Given the description of an element on the screen output the (x, y) to click on. 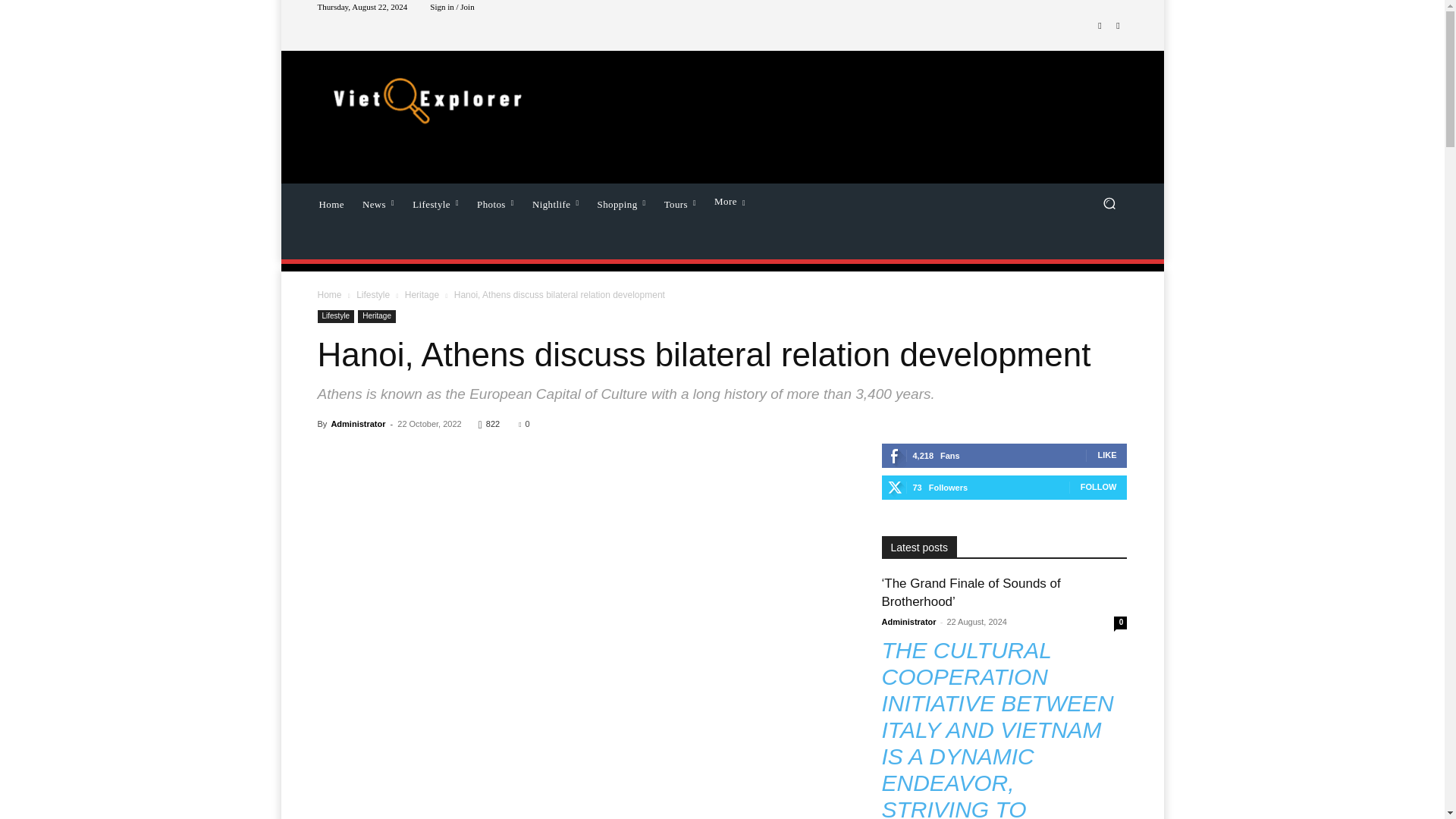
News (378, 202)
Facebook (1099, 25)
Twitter (1117, 25)
Lifestyle (435, 202)
Home (330, 202)
